Given the description of an element on the screen output the (x, y) to click on. 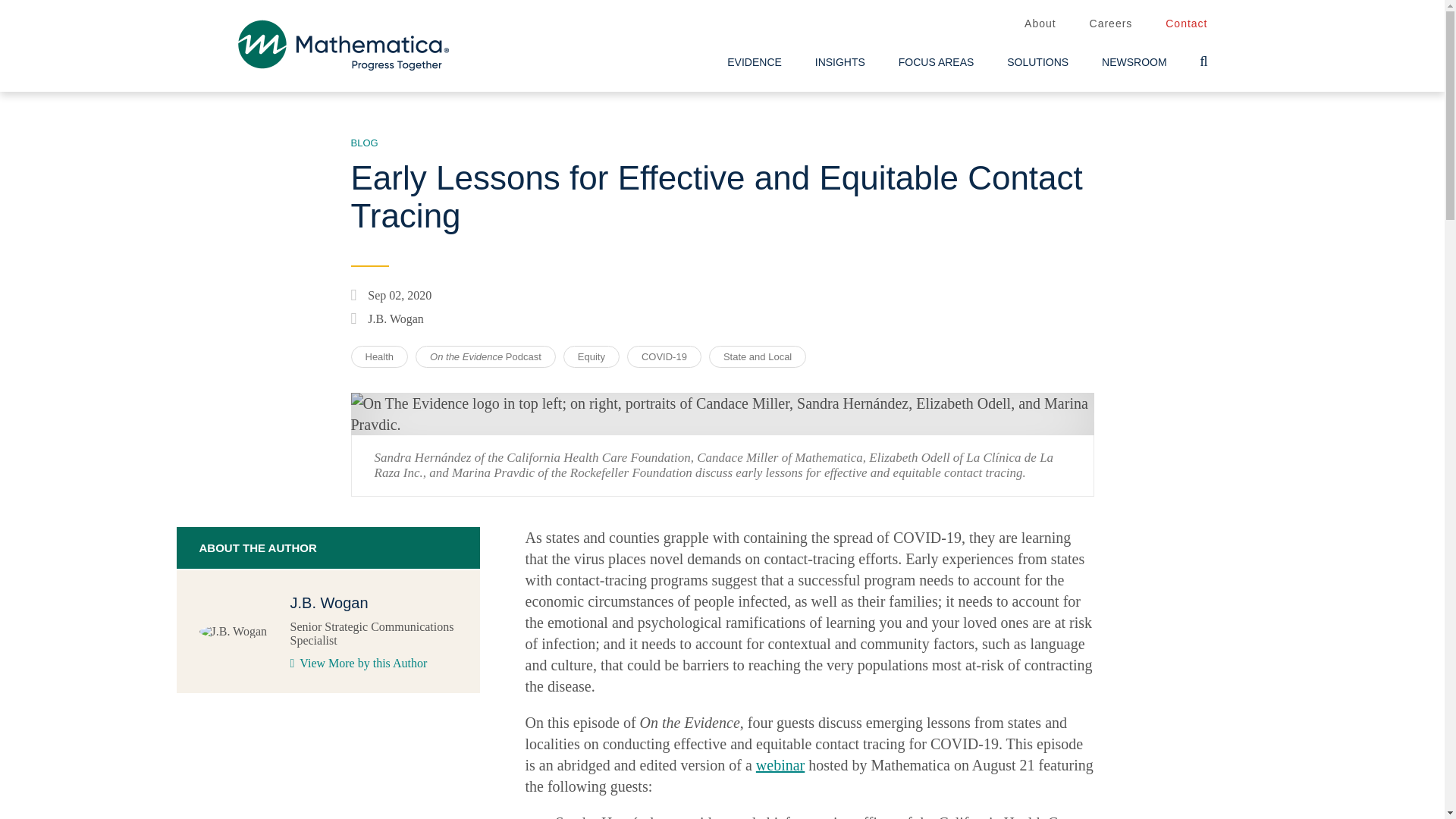
About (1041, 23)
Careers (1110, 23)
FOCUS AREAS (936, 62)
INSIGHTS (839, 62)
Contact (1186, 23)
SOLUTIONS (1037, 62)
NEWSROOM (1134, 62)
EVIDENCE (753, 62)
